Given the description of an element on the screen output the (x, y) to click on. 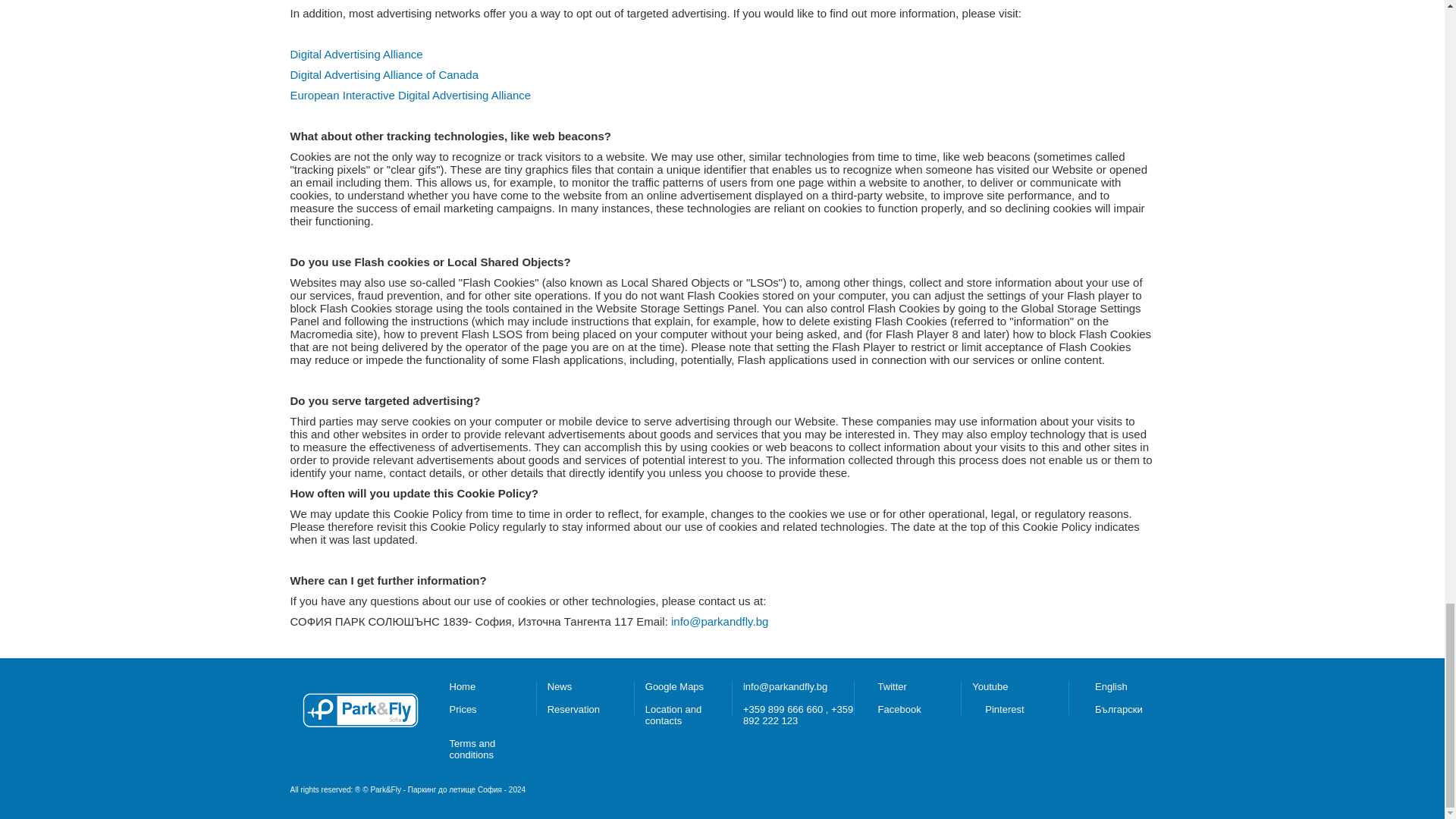
European Interactive Digital Advertising Alliance (410, 94)
Google Maps (674, 686)
News (559, 686)
Youtube (989, 686)
Terms and conditions (471, 748)
Home (462, 686)
Digital Advertising Alliance (355, 53)
Digital Advertising Alliance of Canada (383, 74)
Prices (462, 708)
Twitter (892, 686)
